Given the description of an element on the screen output the (x, y) to click on. 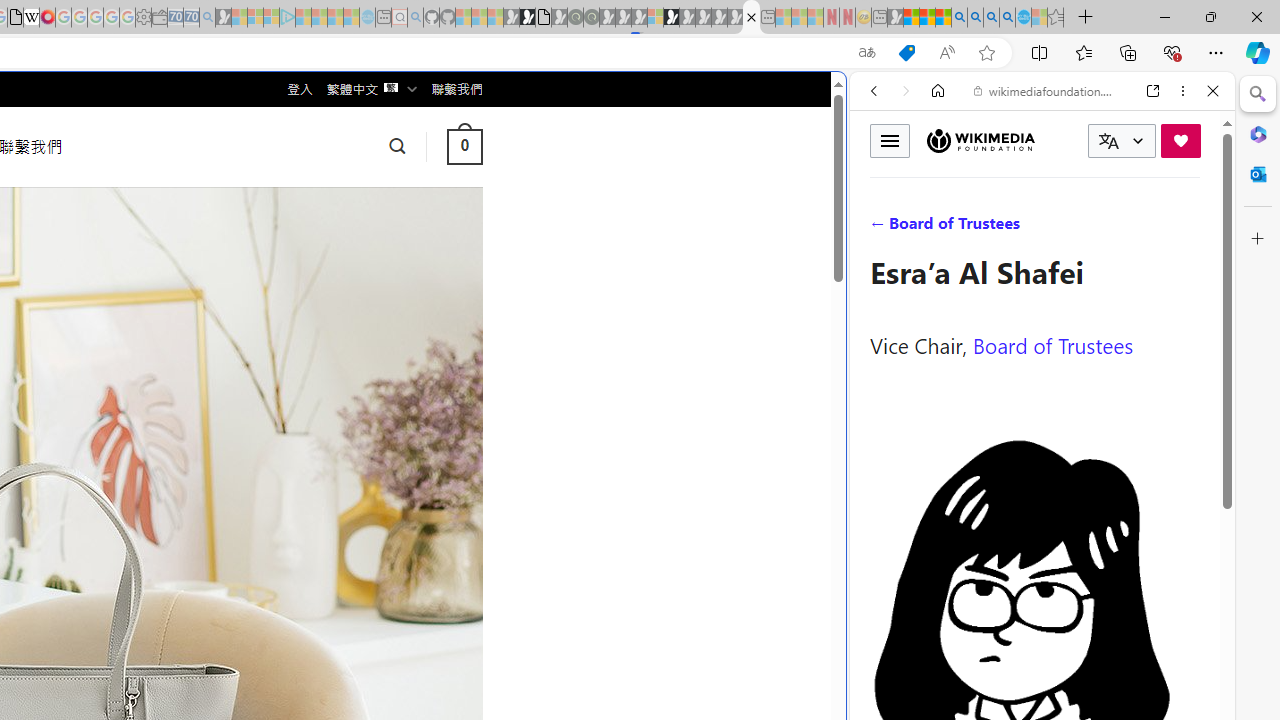
Forward (906, 91)
Wikimedia Foundation (980, 140)
Donate now (1180, 140)
  0   (464, 146)
Browser essentials (1171, 52)
Wiktionary (1034, 669)
Bing AI - Search (959, 17)
Board of Trustees (1053, 344)
IMAGES (939, 228)
CURRENT LANGUAGE: (1121, 141)
